Given the description of an element on the screen output the (x, y) to click on. 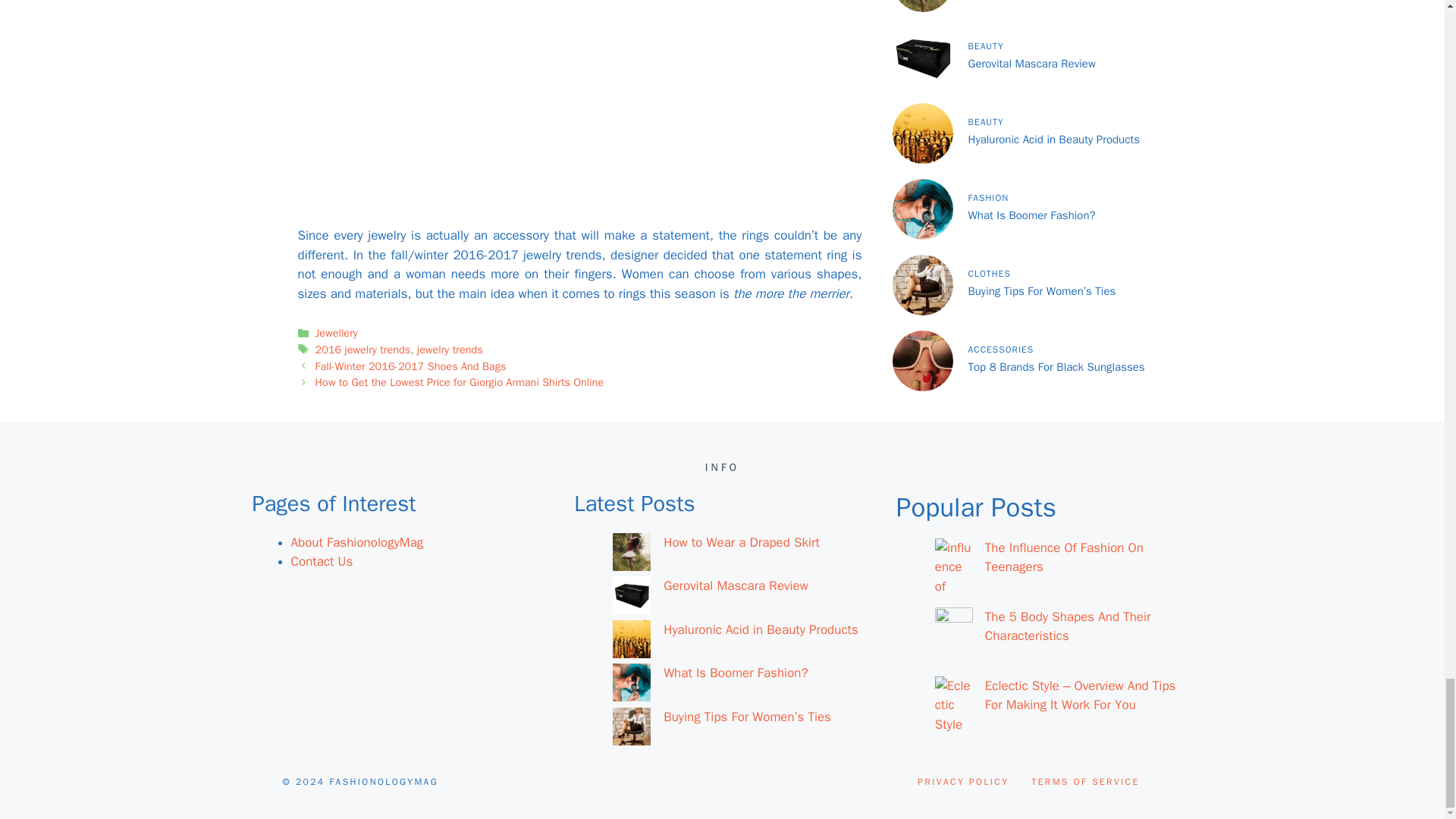
Fall-Winter 2016-2017 Shoes And Bags (410, 366)
Contact Us (322, 561)
About FashionologyMag (357, 542)
jewelry trends (449, 349)
How to Wear a Draped Skirt (741, 542)
Jewellery (336, 332)
2016 jewelry trends (362, 349)
How to Get the Lowest Price for Giorgio Armani Shirts Online (459, 382)
